Given the description of an element on the screen output the (x, y) to click on. 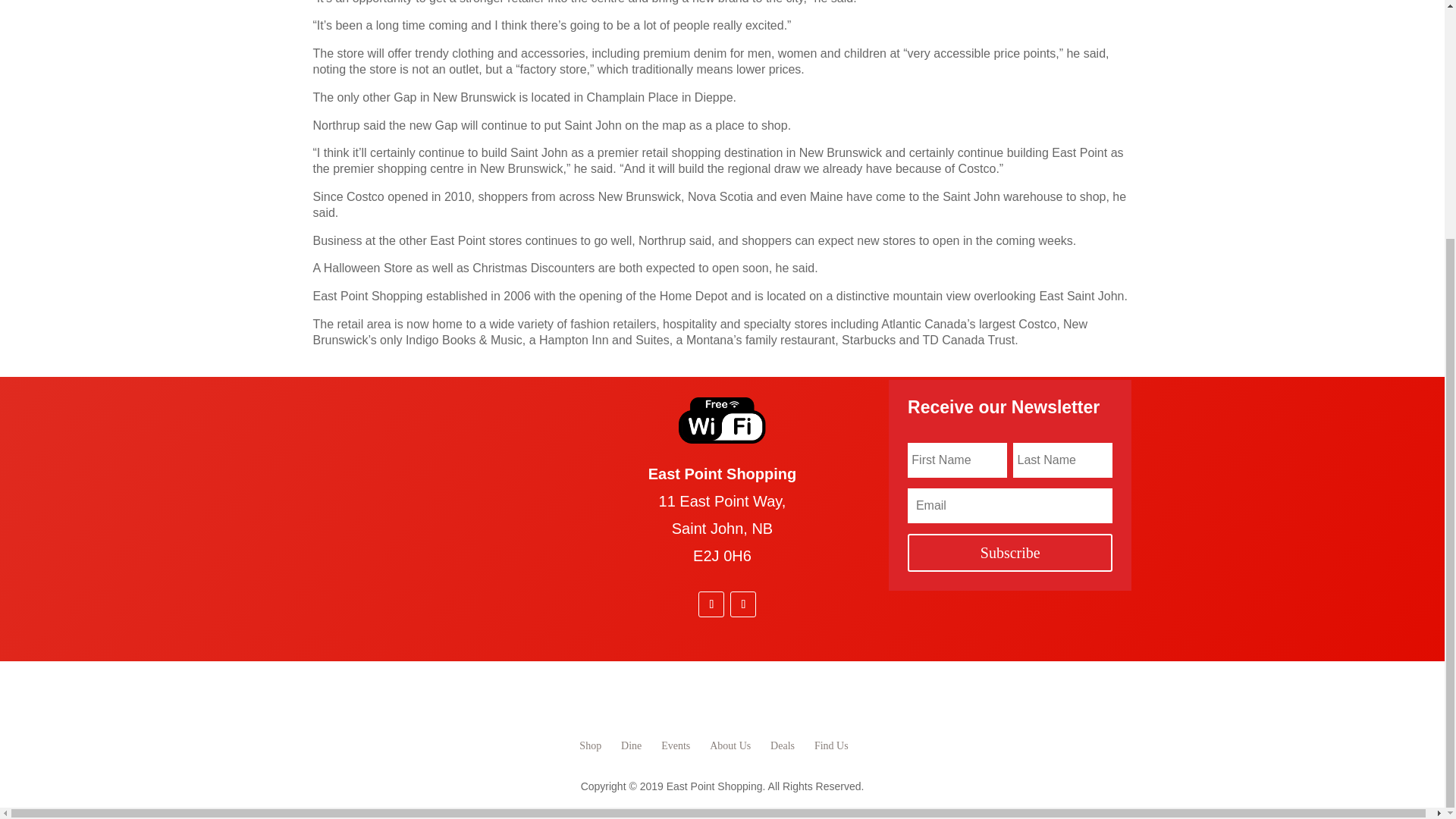
Events (675, 745)
Deals (782, 745)
Follow on Instagram (742, 604)
About Us (730, 745)
Dine (631, 745)
Subscribe (1009, 552)
Follow on Facebook (710, 604)
Find Us (830, 745)
Shop (590, 745)
